Given the description of an element on the screen output the (x, y) to click on. 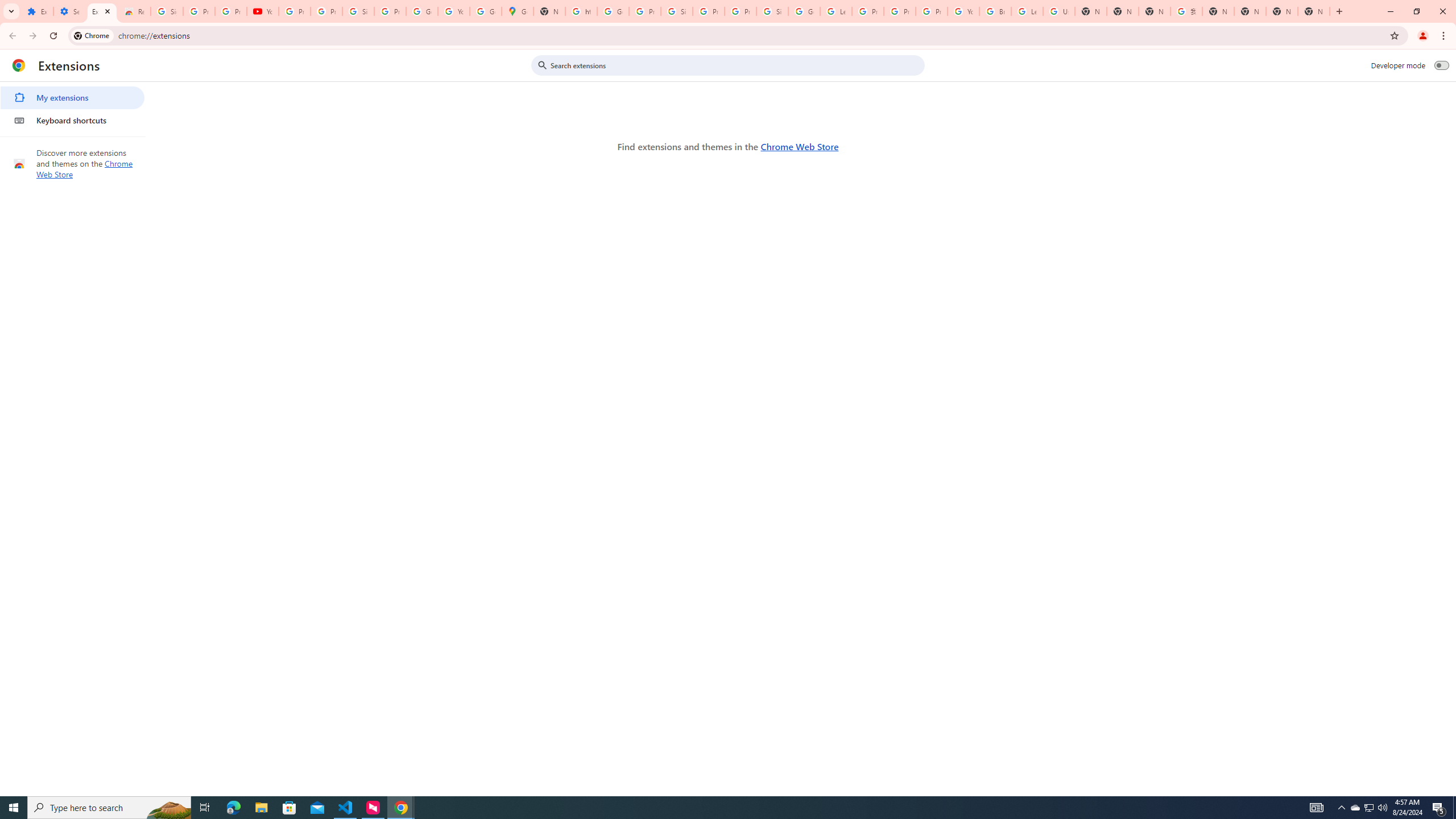
Sign in - Google Accounts (166, 11)
My extensions (72, 97)
https://scholar.google.com/ (581, 11)
Sign in - Google Accounts (676, 11)
YouTube (963, 11)
Chrome Web Store (799, 146)
